Given the description of an element on the screen output the (x, y) to click on. 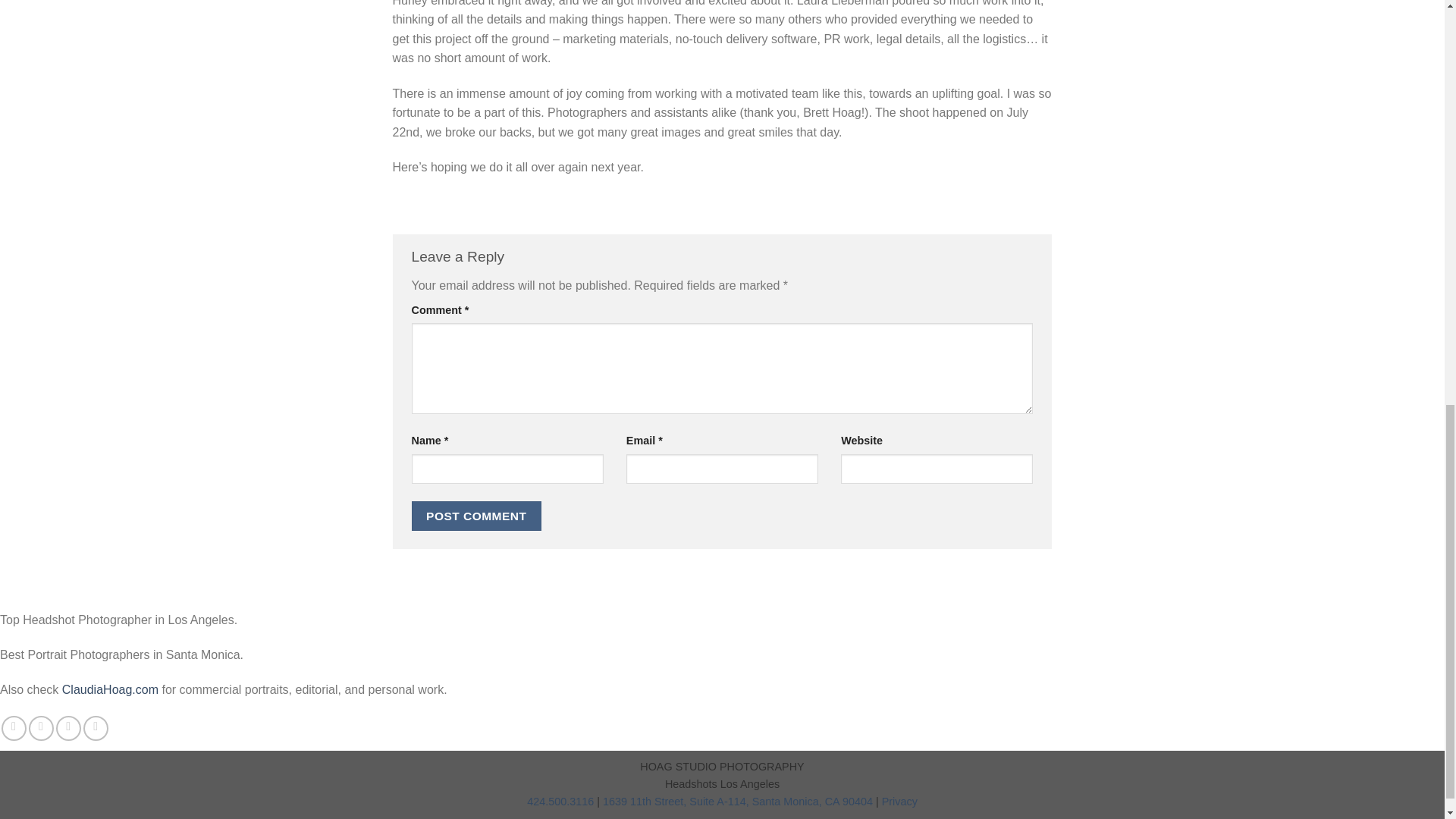
424.500.3116 (560, 801)
1639 11th Street, Suite A-114, Santa Monica, CA 90404 (737, 801)
Follow on Facebook (13, 728)
Call us (68, 728)
Post Comment (475, 515)
ClaudiaHoag.com (110, 689)
Post Comment (475, 515)
Follow on Instagram (41, 728)
Privacy (899, 801)
Follow on LinkedIn (94, 728)
